Given the description of an element on the screen output the (x, y) to click on. 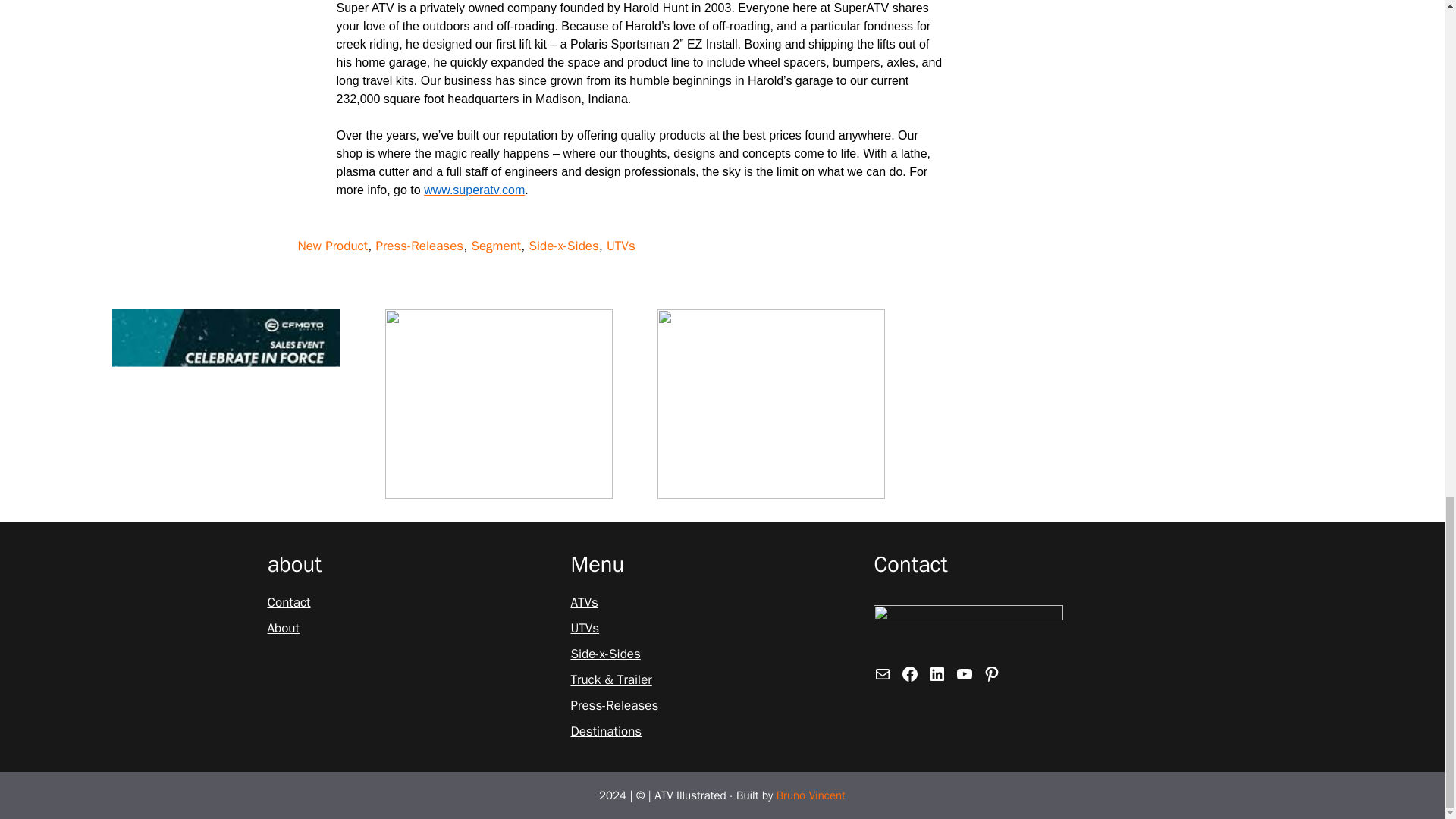
ATVs (583, 602)
About (282, 628)
UTVs (584, 628)
Side-x-Sides (605, 654)
UTVs (620, 245)
www.superatv.com (473, 190)
New Product (332, 245)
Logo-250-w (967, 629)
Press-Releases (419, 245)
Side-x-Sides (563, 245)
